Given the description of an element on the screen output the (x, y) to click on. 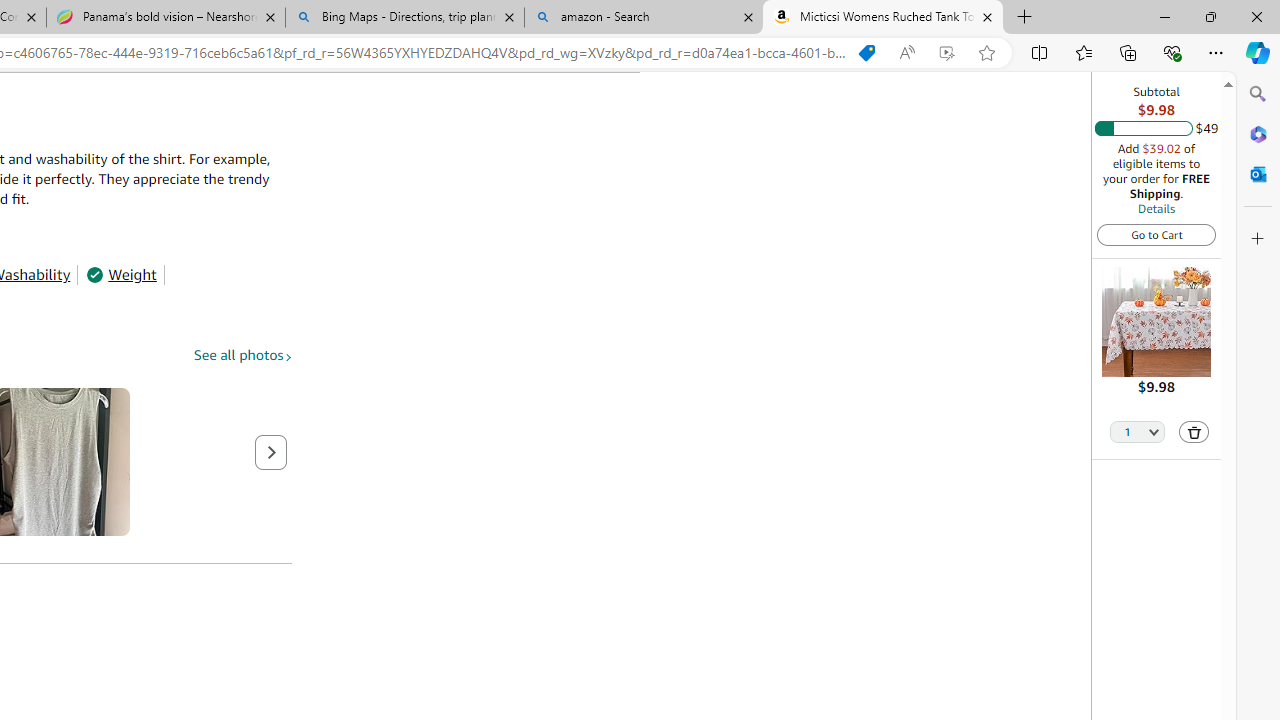
See all photos (243, 355)
